Given the description of an element on the screen output the (x, y) to click on. 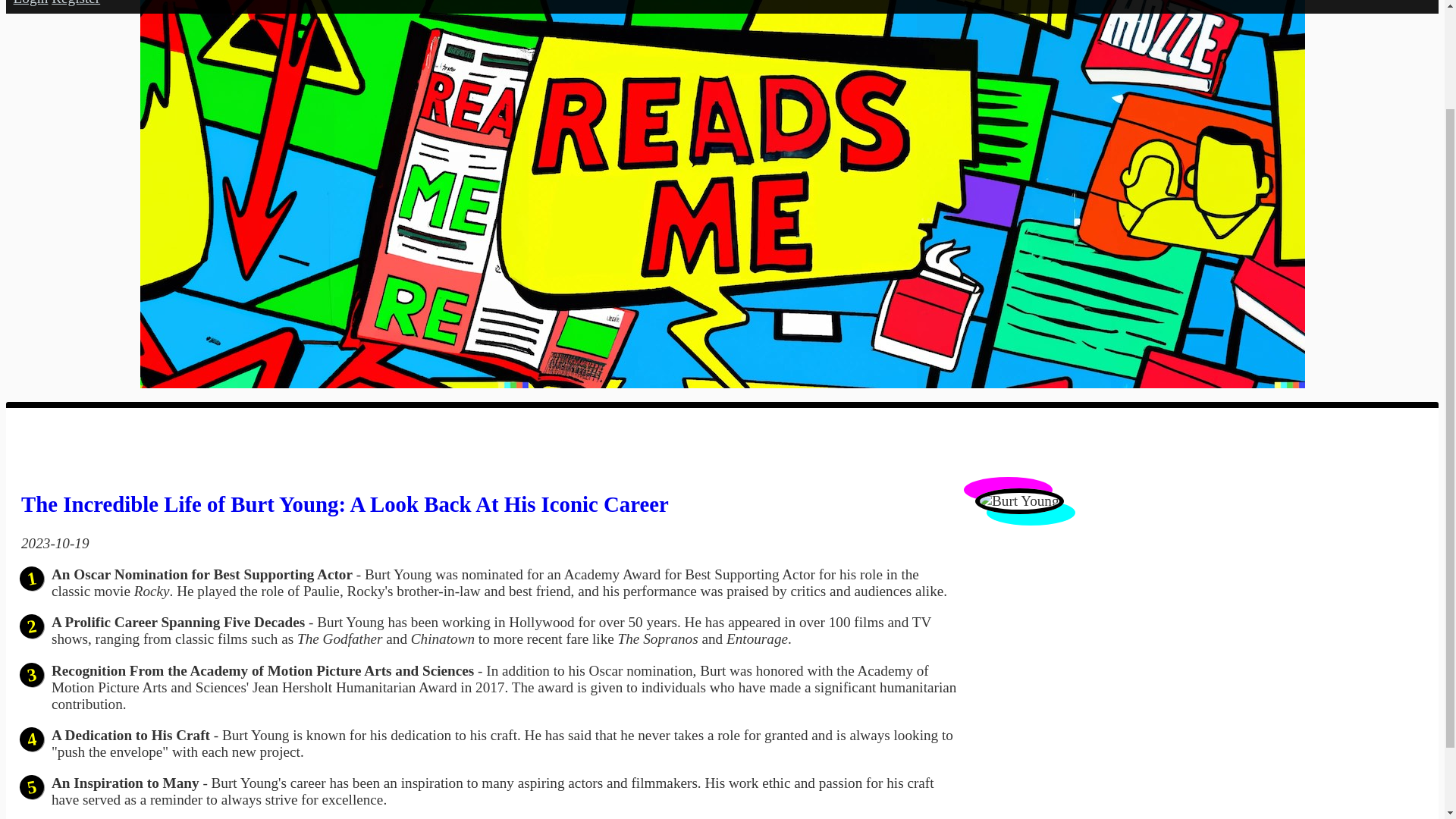
Login (30, 2)
Register (75, 2)
